Given the description of an element on the screen output the (x, y) to click on. 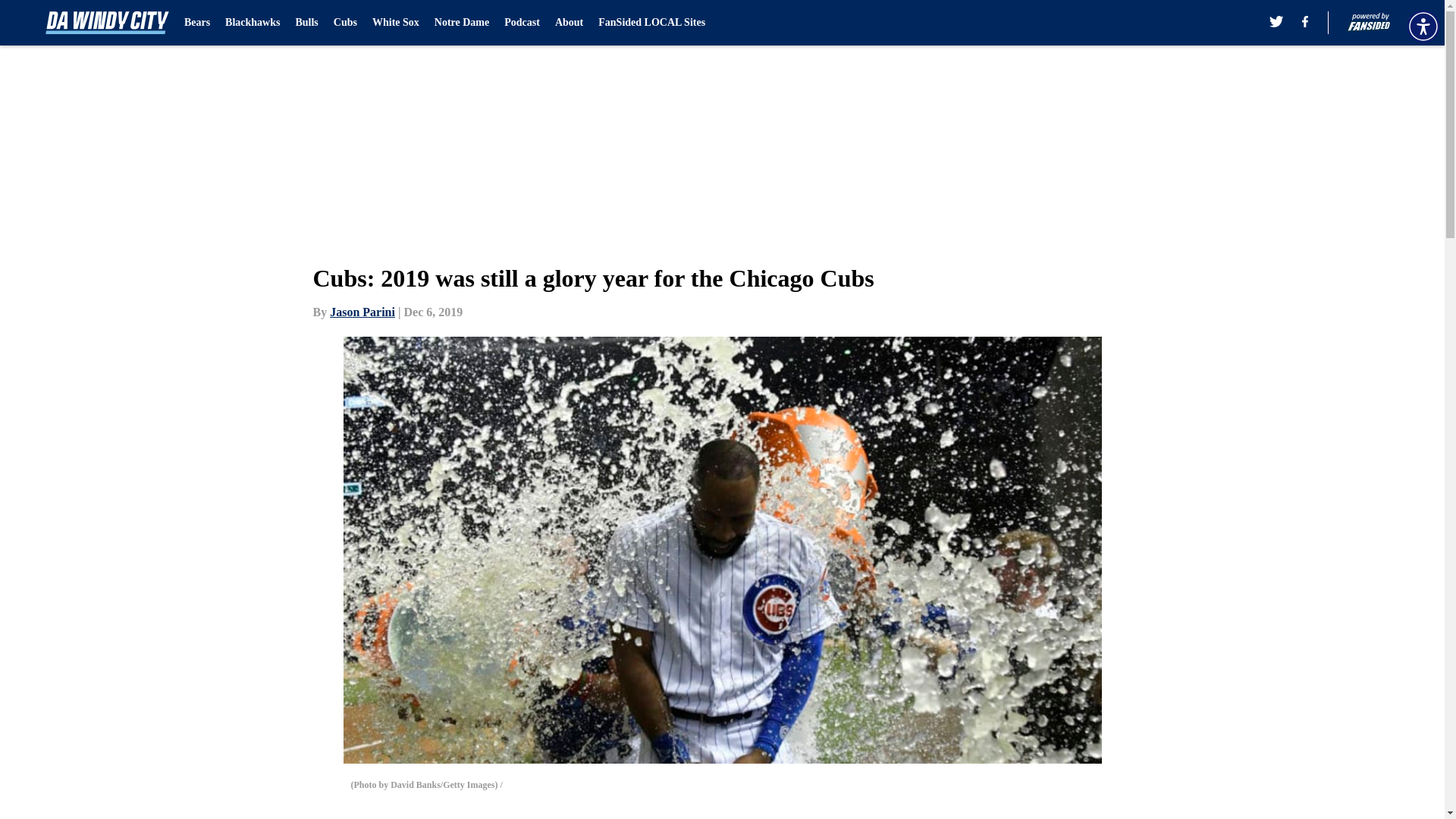
Cubs (344, 22)
Accessibility Menu (1422, 26)
White Sox (395, 22)
Jason Parini (362, 311)
FanSided LOCAL Sites (651, 22)
Bears (196, 22)
About (568, 22)
Blackhawks (252, 22)
Podcast (521, 22)
Bulls (306, 22)
Notre Dame (461, 22)
